Given the description of an element on the screen output the (x, y) to click on. 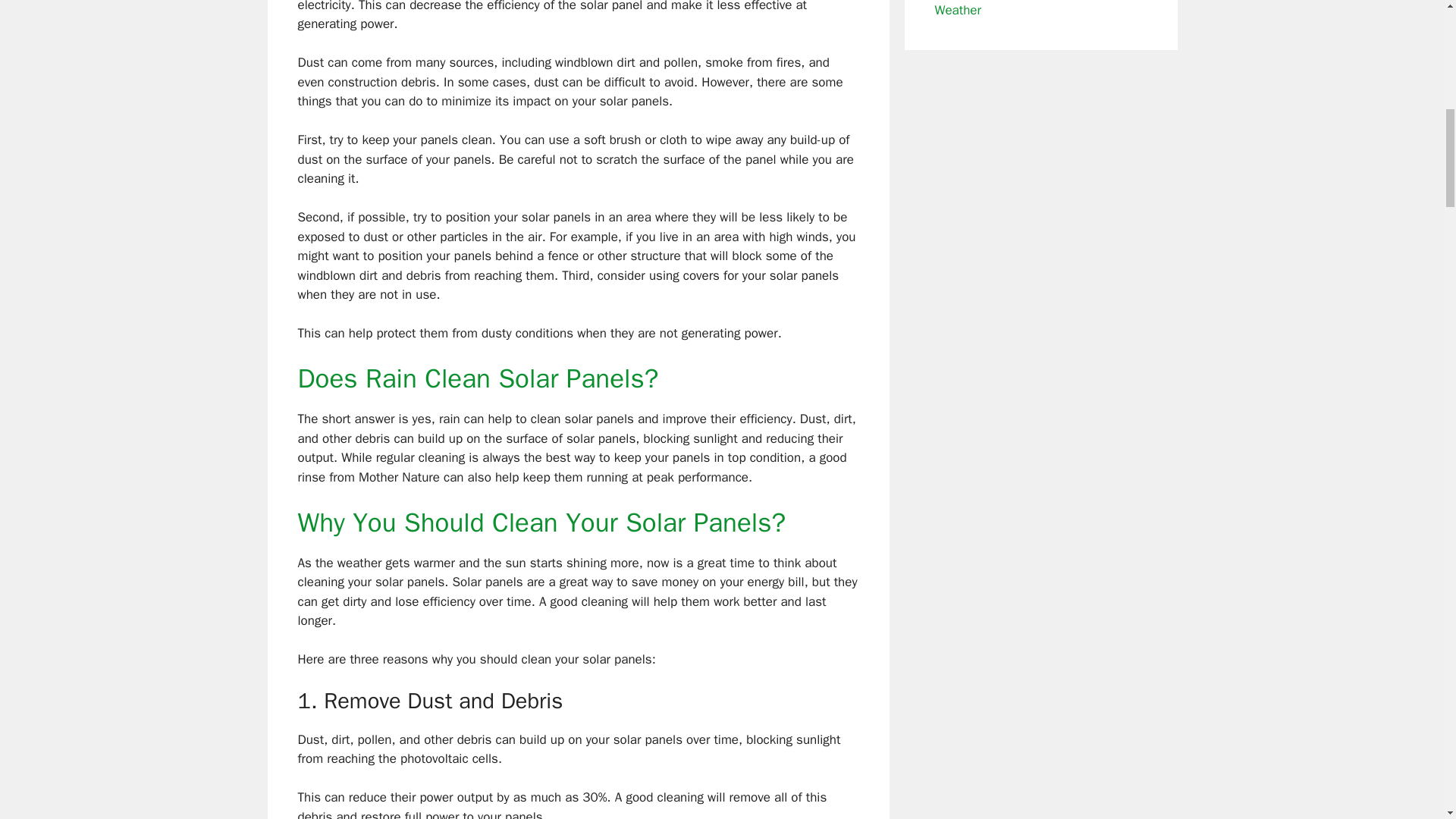
Weather (956, 9)
Scroll back to top (1406, 720)
